Given the description of an element on the screen output the (x, y) to click on. 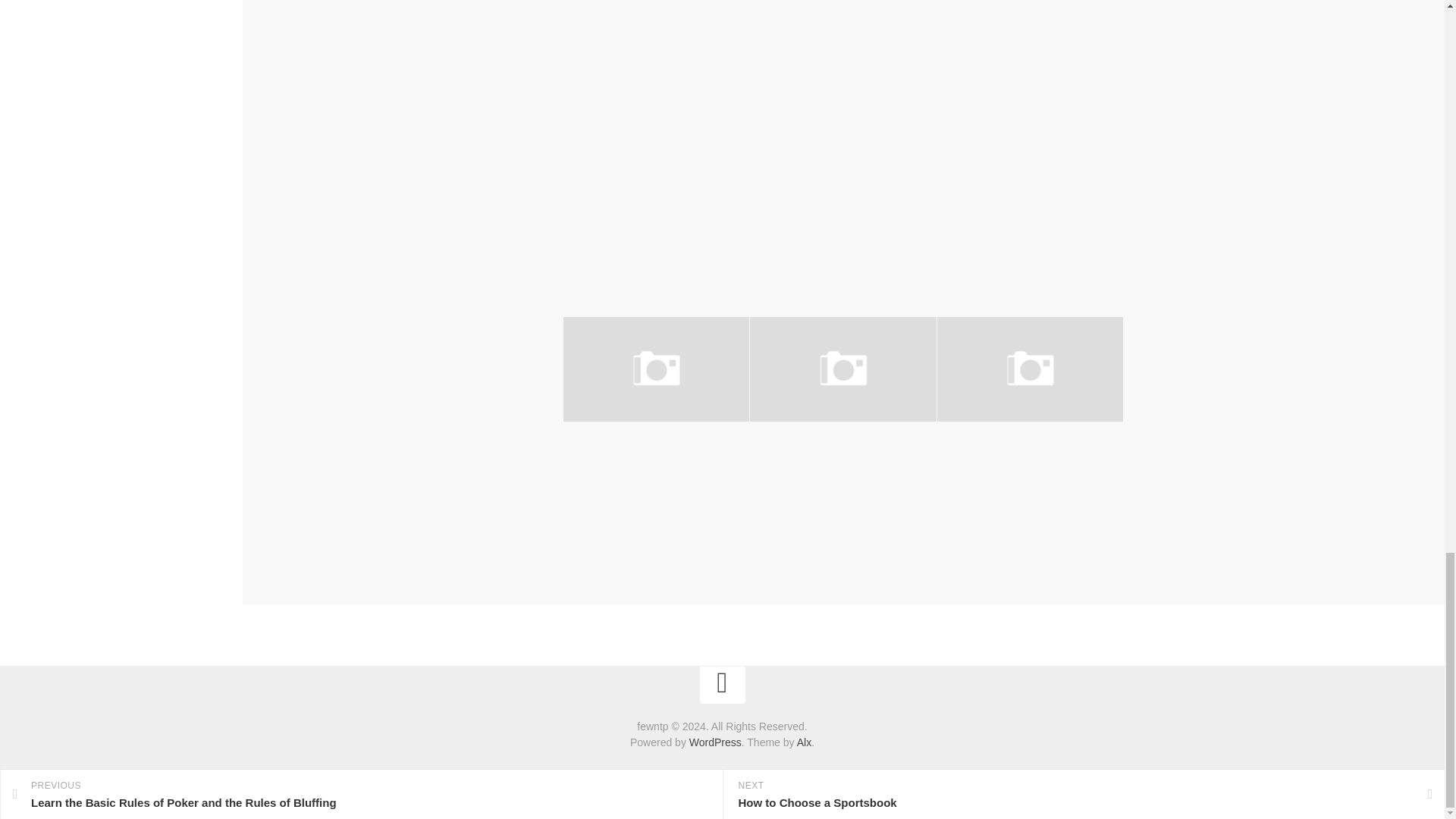
Alx (803, 742)
Panduan Bermain Situs Poker Online IDN untuk Pemula (817, 463)
WordPress (714, 742)
